Given the description of an element on the screen output the (x, y) to click on. 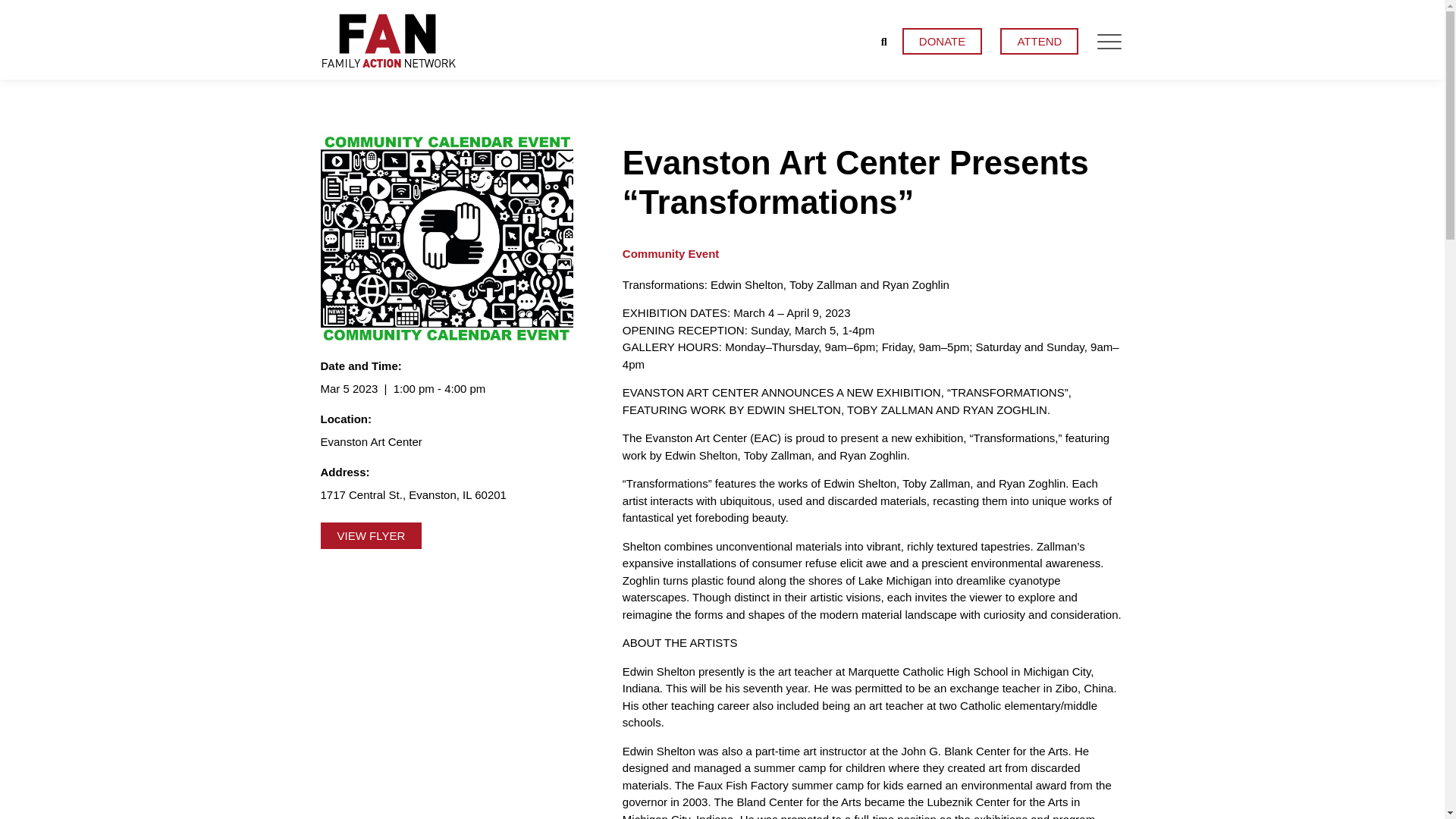
Community Event (671, 253)
ATTEND (1039, 40)
DONATE (941, 40)
VIEW FLYER (371, 535)
